Given the description of an element on the screen output the (x, y) to click on. 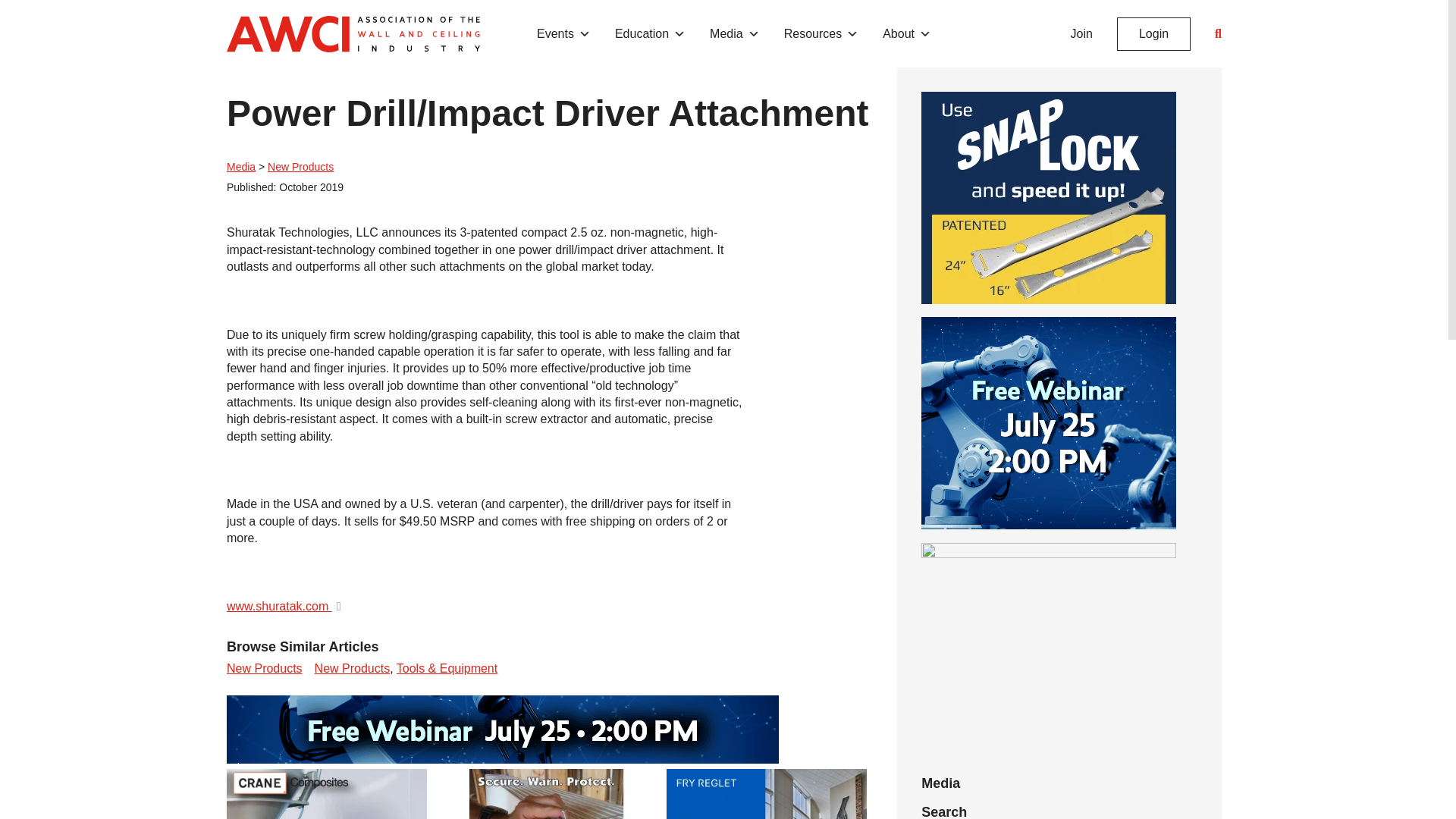
Events (564, 33)
Education (649, 33)
